Given the description of an element on the screen output the (x, y) to click on. 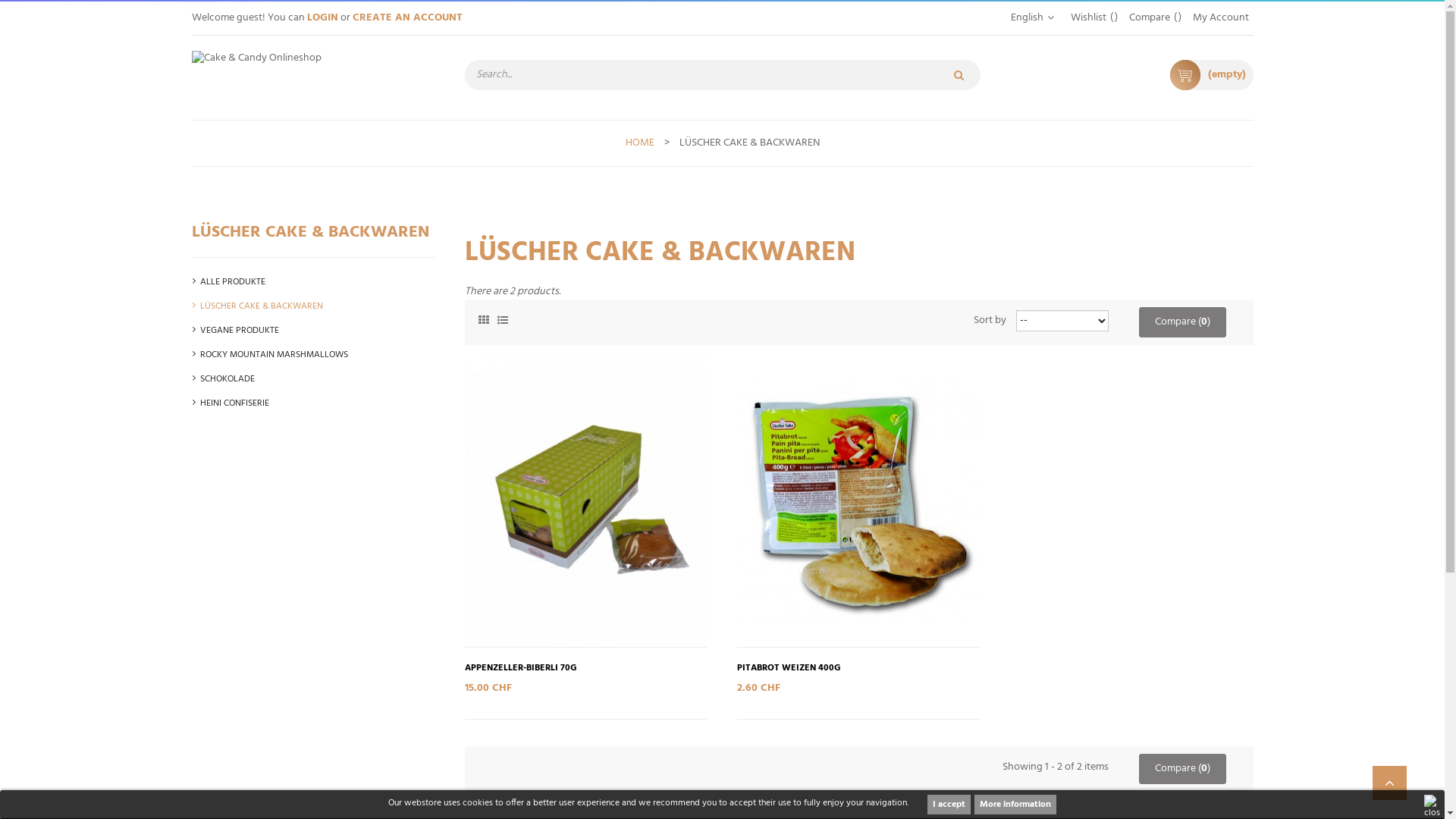
English Element type: text (1026, 17)
APPENZELLER-BIBERLI 70G Element type: text (519, 668)
Wishlist Element type: text (1093, 17)
ALLE PRODUKTE Element type: text (316, 282)
Appenzeller-Biberli 70g Element type: hover (585, 501)
List Element type: hover (501, 317)
Compare (0) Element type: text (1182, 322)
Cake & Candy Onlineshop Element type: hover (312, 76)
HOME Element type: text (638, 142)
PITABROT WEIZEN 400G Element type: text (788, 668)
HEINI CONFISERIE Element type: text (316, 403)
VEGANE PRODUKTE Element type: text (316, 330)
Compare Element type: text (1154, 17)
My Account Element type: text (1220, 17)
LOGIN Element type: text (321, 17)
SCHOKOLADE Element type: text (316, 379)
More information Element type: text (1015, 804)
Pitabrot Weizen 400g Element type: hover (858, 501)
I accept Element type: text (948, 804)
(empty) Element type: text (1210, 74)
ROCKY MOUNTAIN MARSHMALLOWS Element type: text (316, 354)
CREATE AN ACCOUNT Element type: text (406, 17)
Compare (0) Element type: text (1182, 768)
Grid Element type: hover (483, 317)
